Given the description of an element on the screen output the (x, y) to click on. 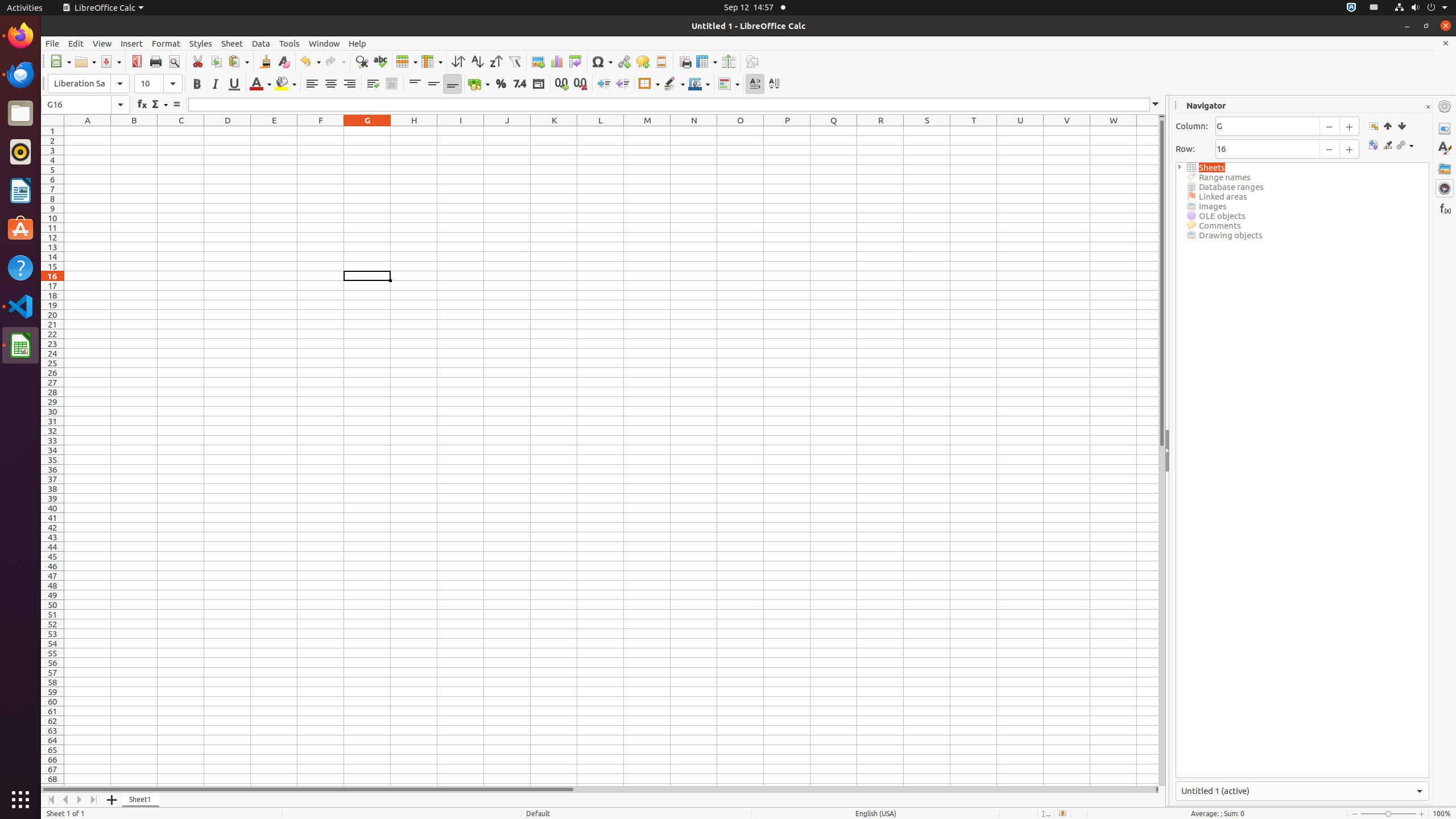
AutoFilter Element type: push-button (514, 61)
PDF Element type: push-button (136, 61)
G1 Element type: table-cell (367, 130)
Spelling Element type: push-button (379, 61)
R1 Element type: table-cell (880, 130)
